Given the description of an element on the screen output the (x, y) to click on. 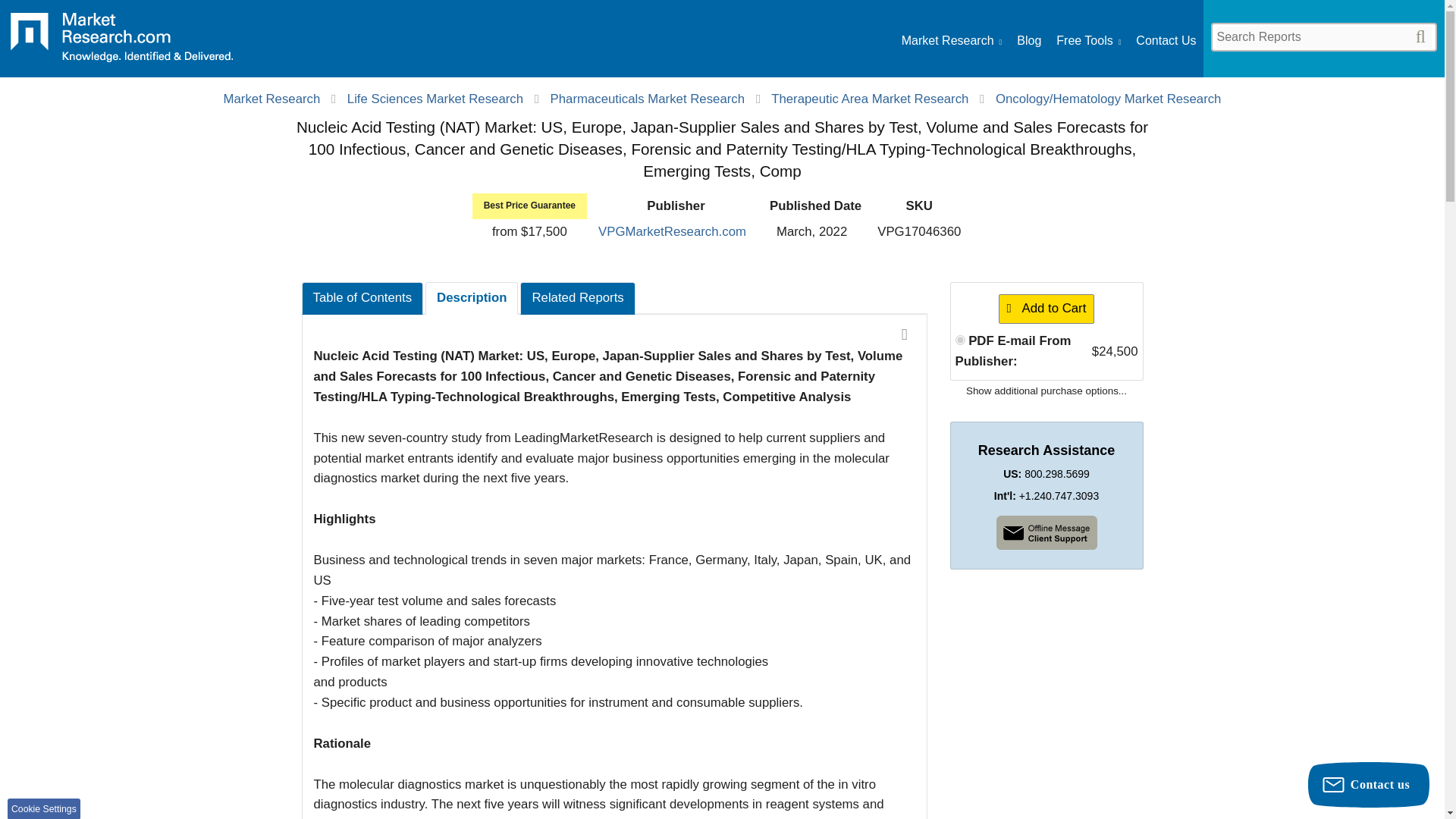
Free Tools (1089, 40)
Browse Market Research Industries (951, 40)
Learn more about market research with these free tools (1089, 40)
VPGMarketResearch.com (671, 231)
Table of Contents (362, 297)
Market Research (121, 42)
Pharmaceuticals Market Research (647, 98)
Market Research (951, 40)
Market Research (272, 98)
Get in touch with MarketResearch.com (1165, 40)
Contact Us (1165, 40)
Life Sciences Market Research (434, 98)
31074646 (960, 339)
Therapeutic Area Market Research (869, 98)
Description (471, 297)
